Given the description of an element on the screen output the (x, y) to click on. 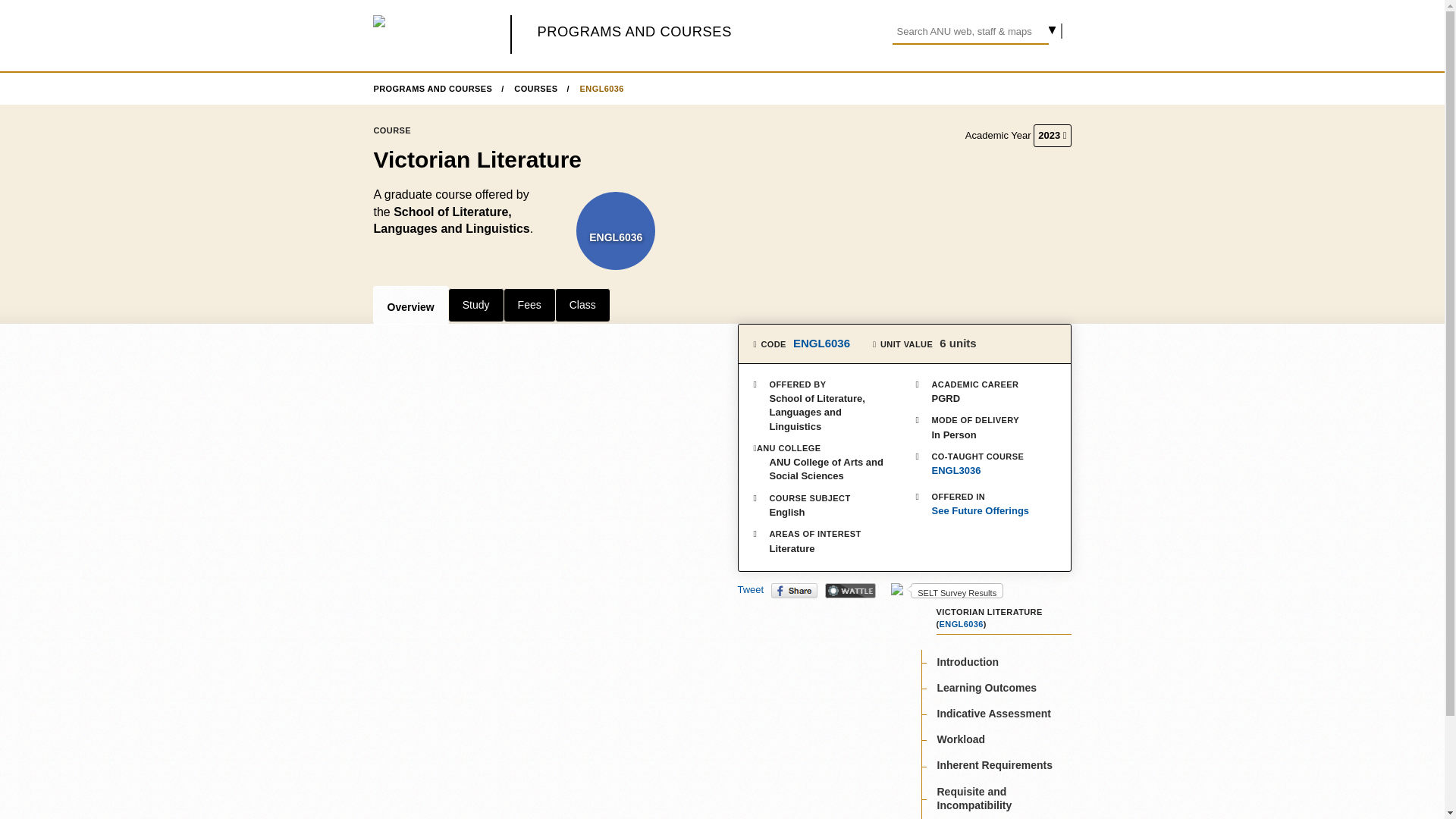
Class (582, 304)
Tweet (749, 589)
2023 (1051, 135)
Study (475, 304)
ENGL6036 (821, 342)
COURSES (541, 88)
ENGL6036 (961, 623)
PROGRAMS AND COURSES (437, 88)
PROGRAMS AND COURSES (633, 31)
See Future Offerings (985, 510)
